Given the description of an element on the screen output the (x, y) to click on. 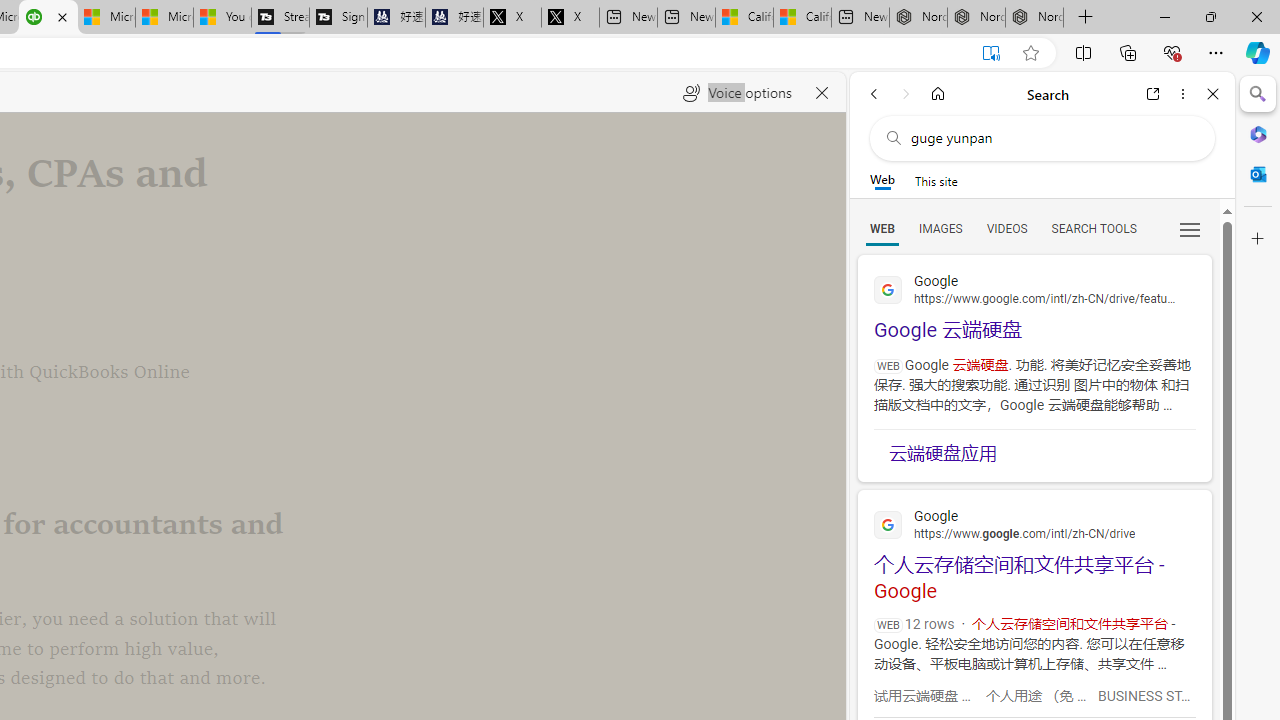
SEARCH TOOLS (1093, 228)
Search Filter, IMAGES (939, 228)
VIDEOS (1006, 228)
Forward (906, 93)
Class: b_serphb (1190, 229)
IMAGES (939, 228)
Close read aloud (821, 92)
